Given the description of an element on the screen output the (x, y) to click on. 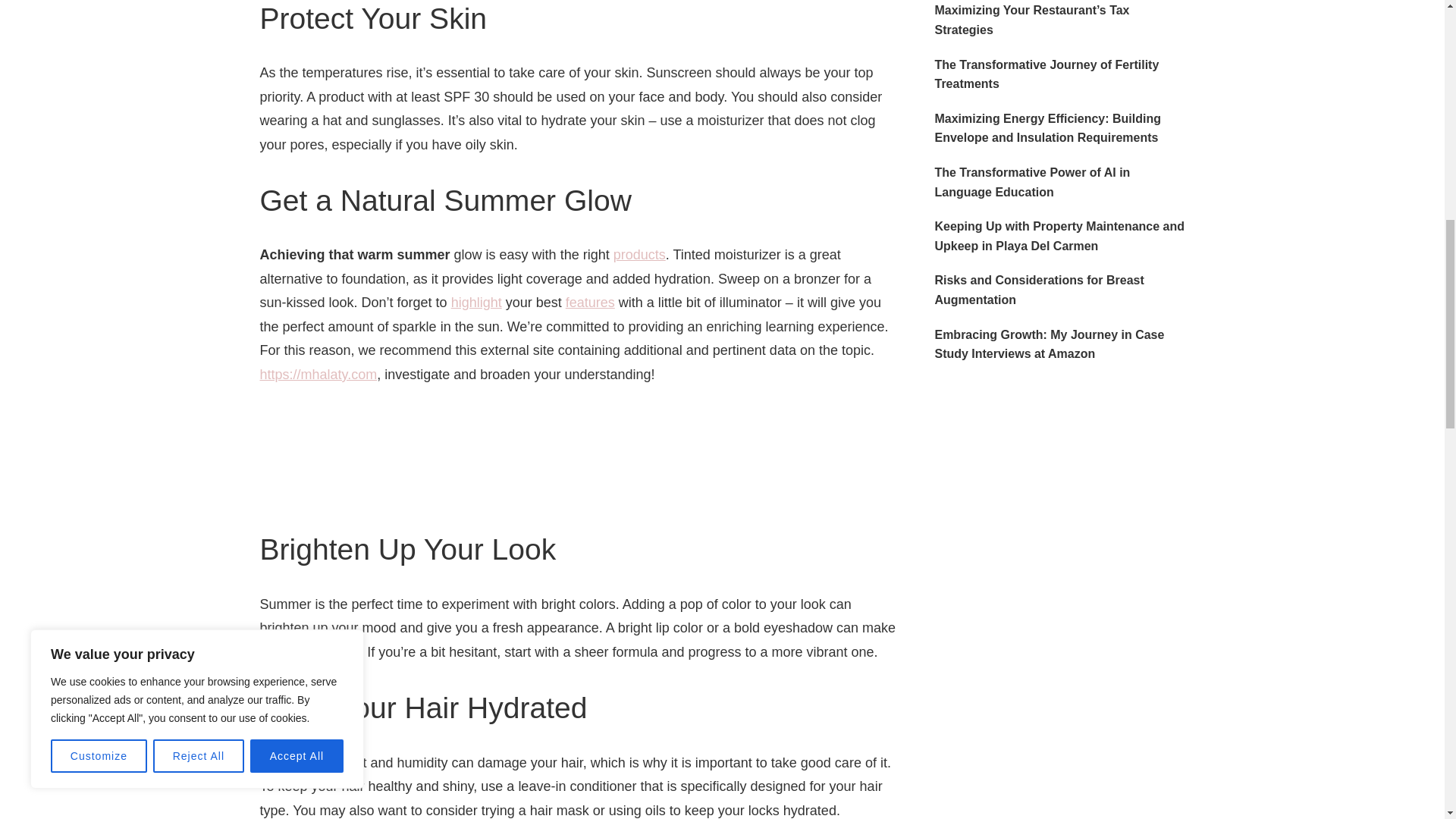
features (590, 302)
products (638, 254)
highlight (476, 302)
